Given the description of an element on the screen output the (x, y) to click on. 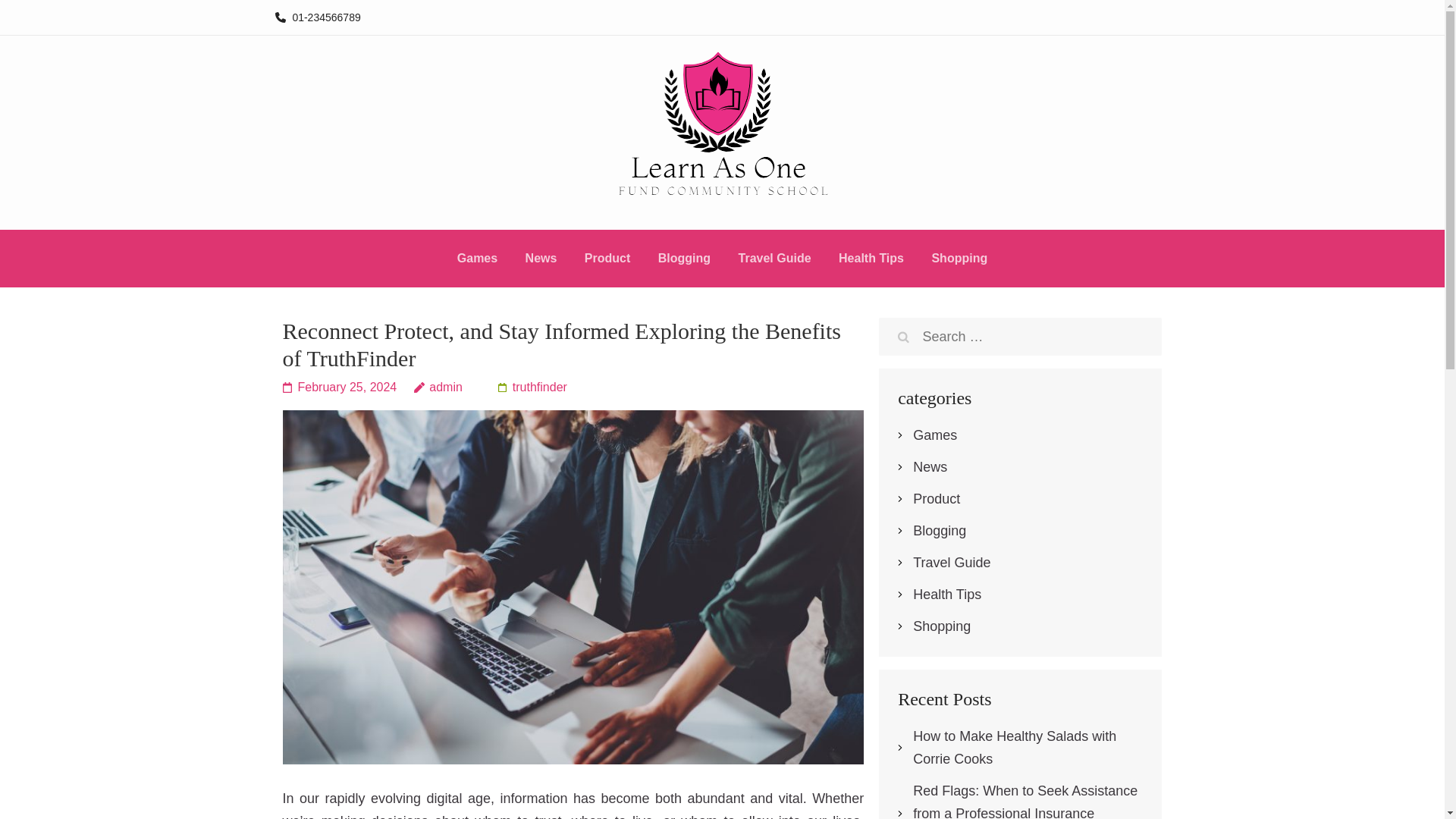
Search (903, 337)
truthfinder (532, 386)
February 25, 2024 (339, 386)
Search (903, 337)
Games (934, 435)
Product (935, 498)
Travel Guide (774, 261)
Shopping (959, 261)
Health Tips (946, 594)
